Given the description of an element on the screen output the (x, y) to click on. 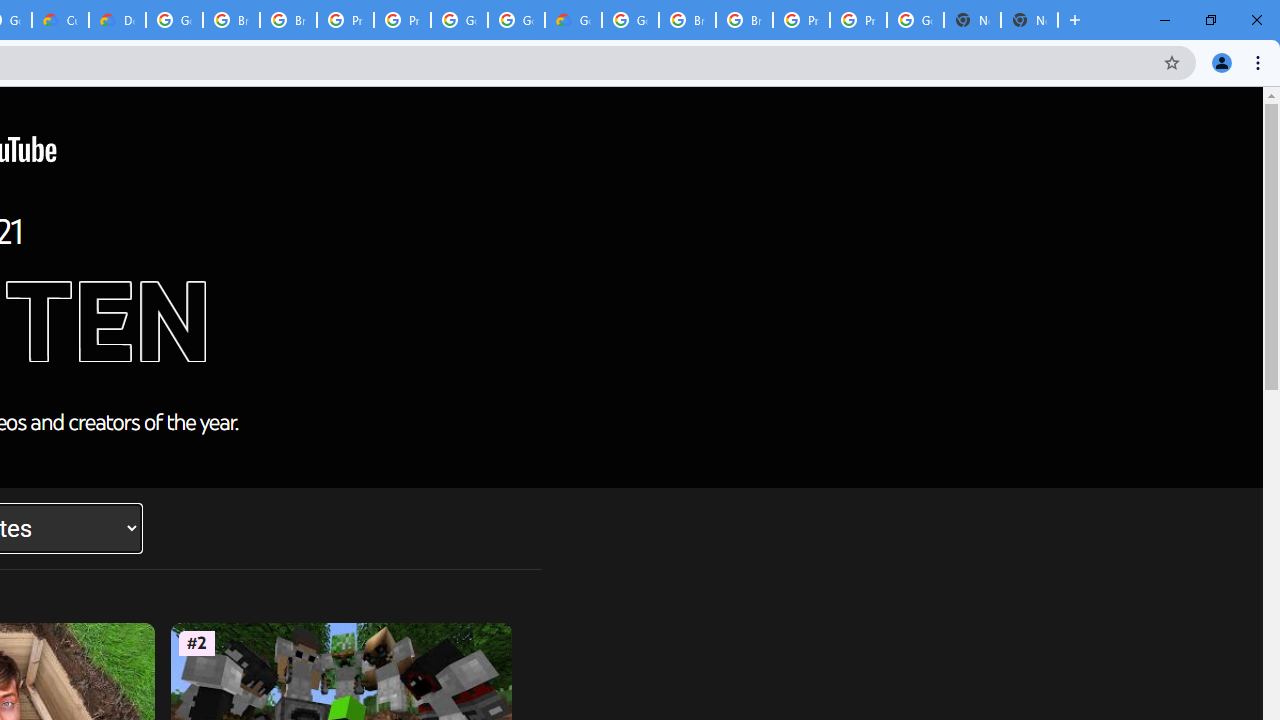
Google Cloud Estimate Summary (573, 20)
Google Cloud Platform (915, 20)
Browse Chrome as a guest - Computer - Google Chrome Help (687, 20)
Google Cloud Platform (459, 20)
